Given the description of an element on the screen output the (x, y) to click on. 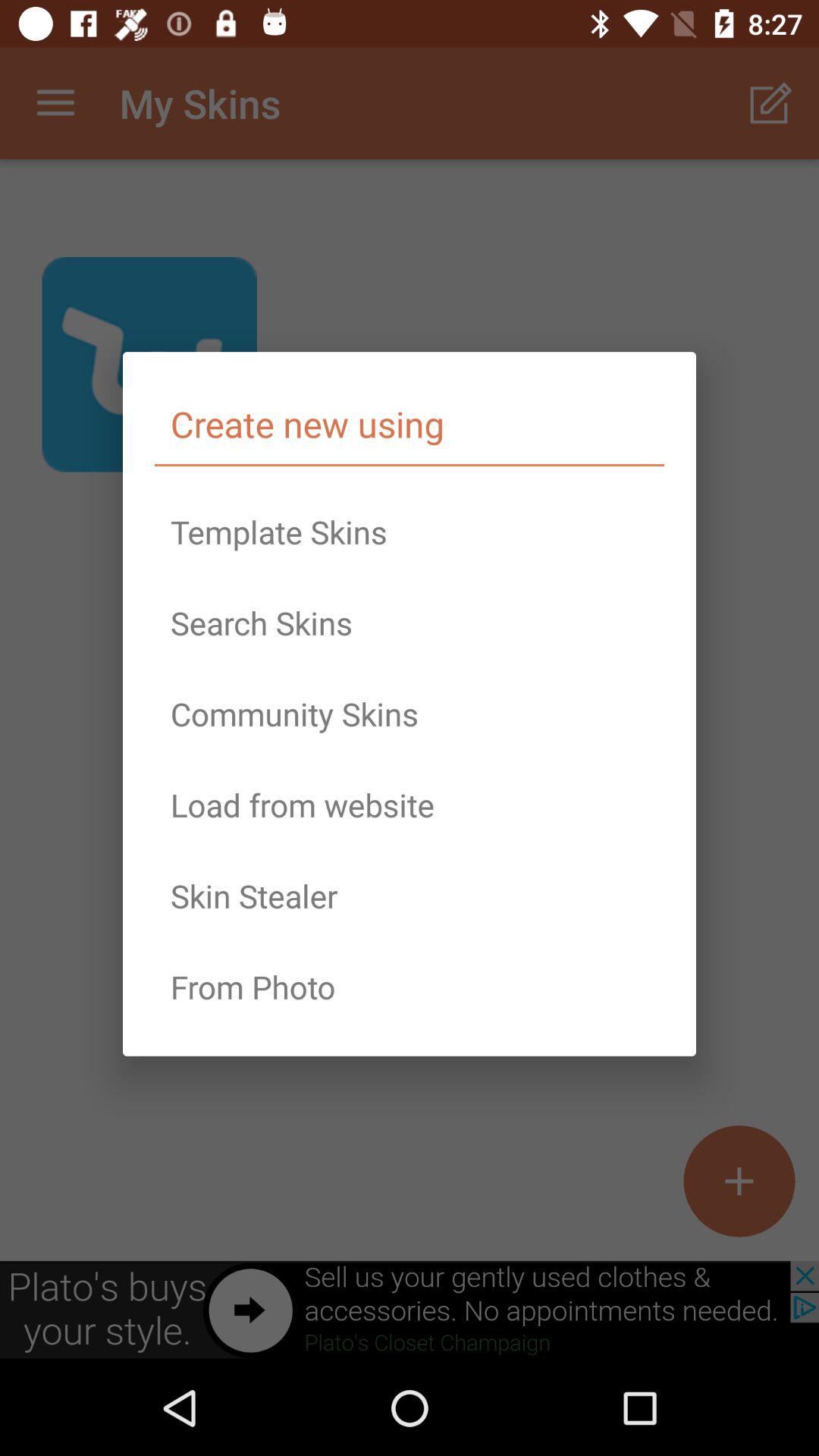
swipe to the community skins (409, 713)
